Given the description of an element on the screen output the (x, y) to click on. 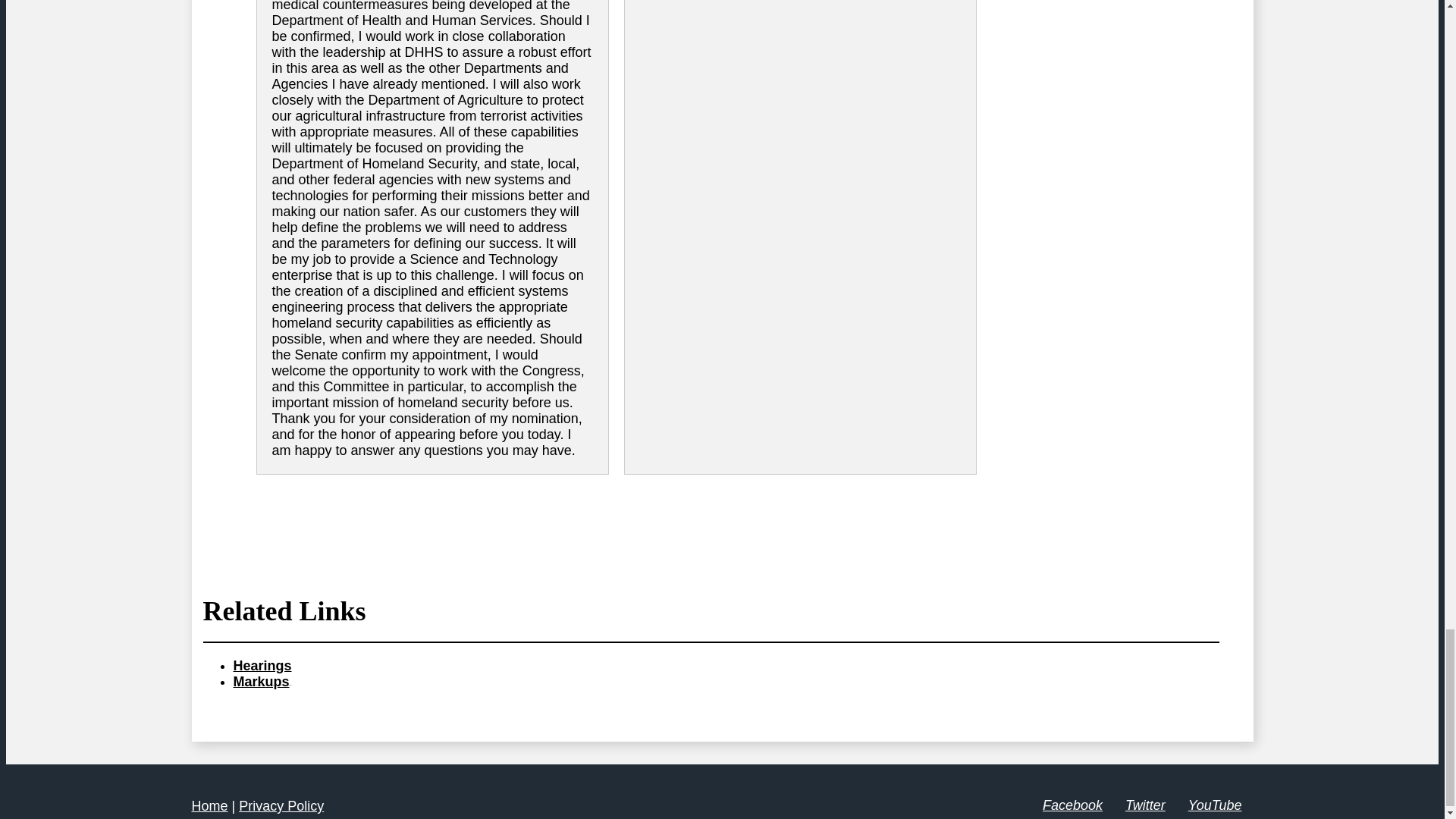
YouTube (1214, 805)
Facebook (1072, 805)
Twitter (1145, 805)
